Given the description of an element on the screen output the (x, y) to click on. 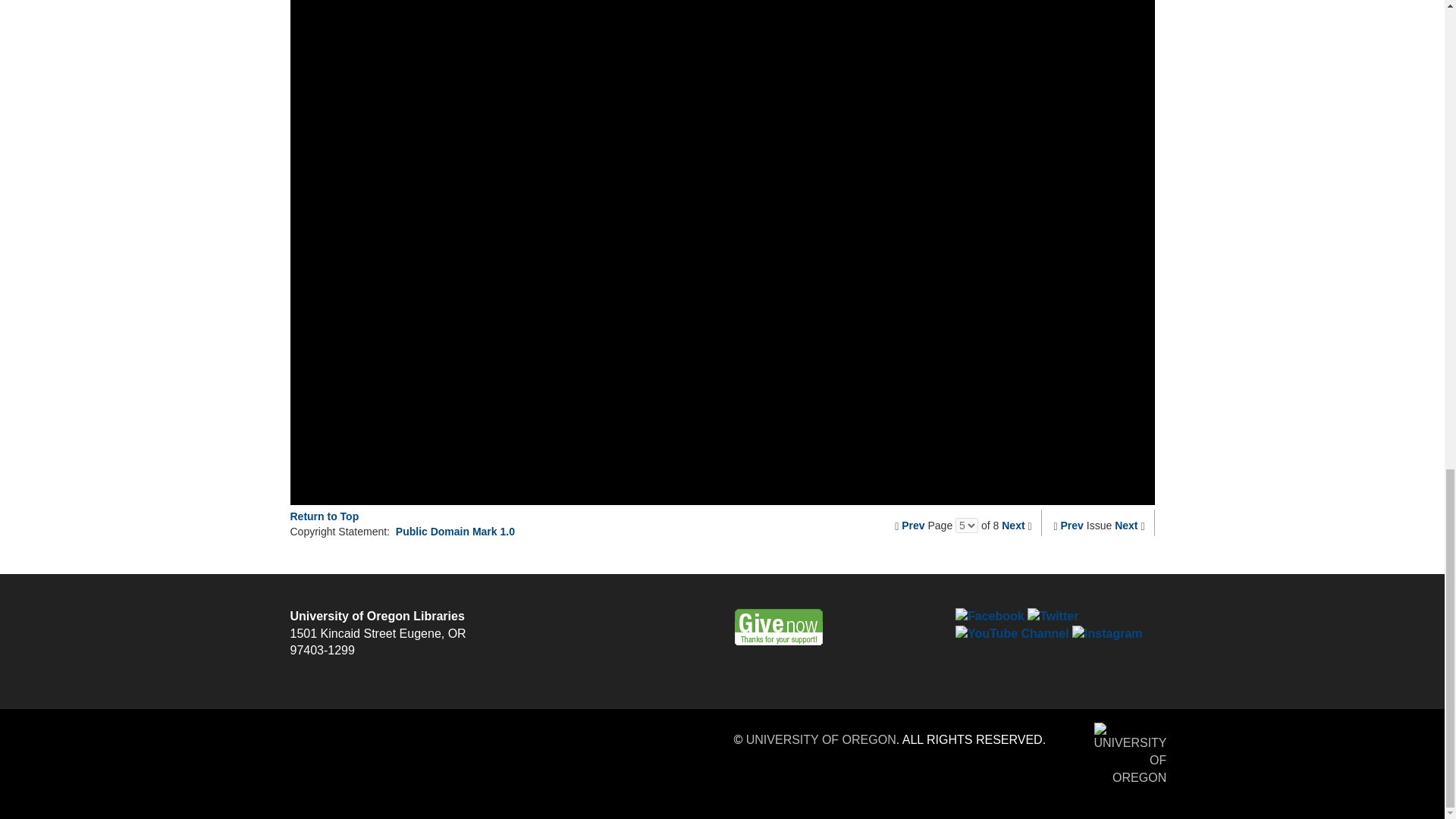
Public Domain Mark 1.0 (455, 531)
Next (1126, 525)
Return to Top (323, 516)
Prev (912, 525)
Prev (1072, 525)
Next (1013, 525)
